Given the description of an element on the screen output the (x, y) to click on. 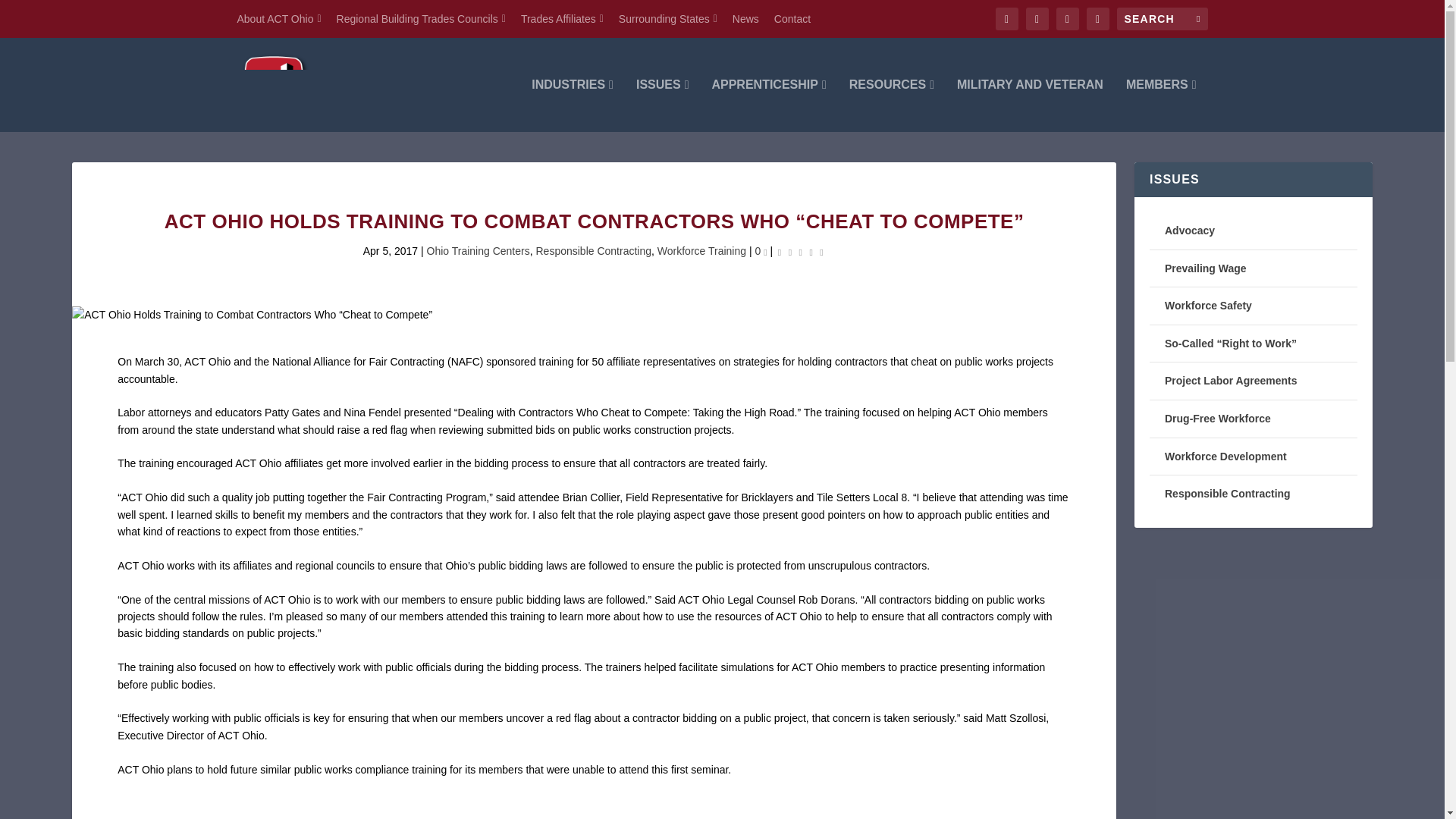
comment count (764, 252)
Regional Building Trades Councils (420, 18)
Search for: (1161, 18)
Rating: 0.00 (800, 251)
Trades Affiliates (562, 18)
About ACT Ohio (277, 18)
